Given the description of an element on the screen output the (x, y) to click on. 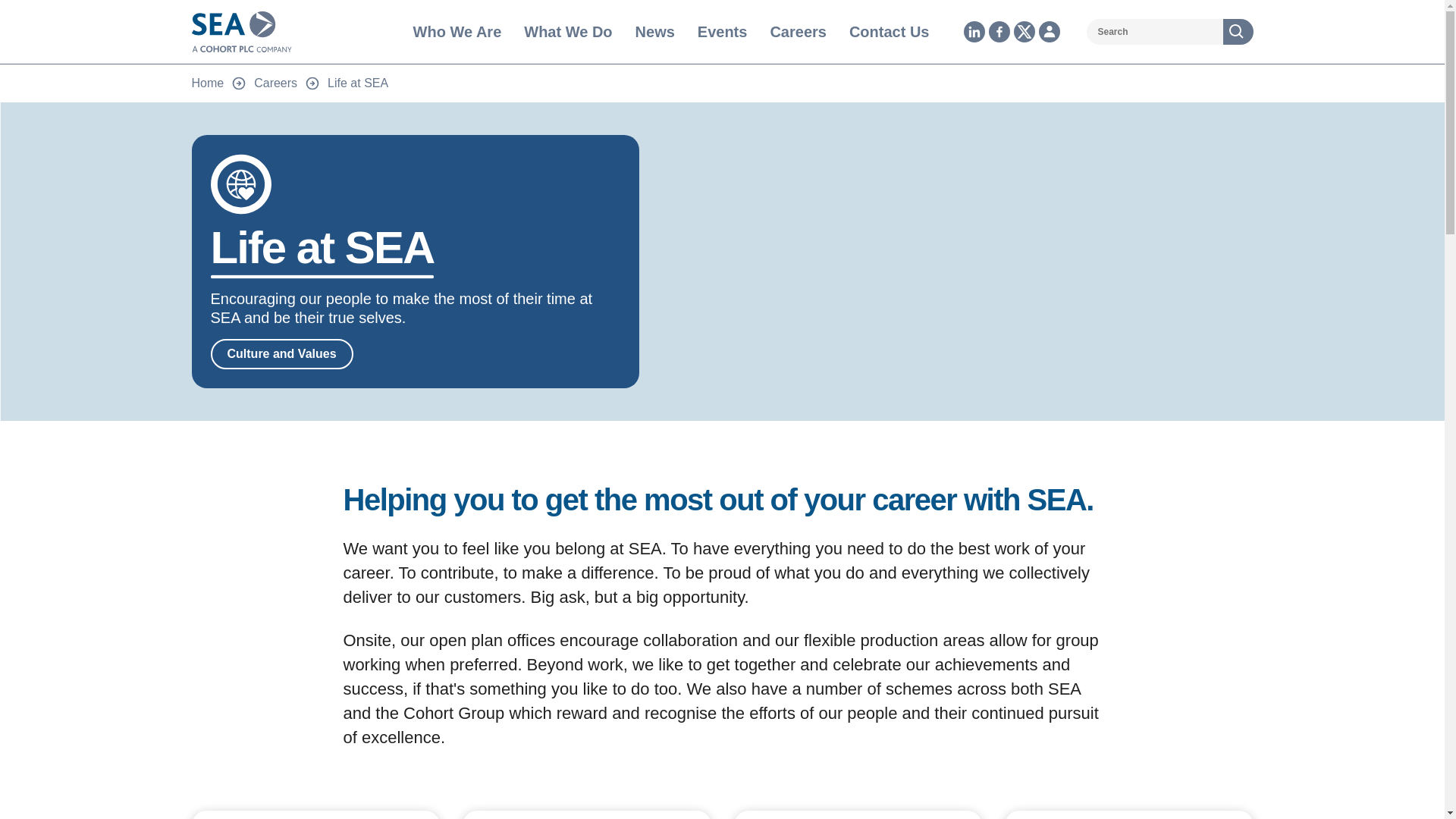
What We Do (567, 31)
Contact Us (889, 31)
Careers (798, 31)
Who We Are (457, 31)
Events (722, 31)
Search (1237, 31)
